Given the description of an element on the screen output the (x, y) to click on. 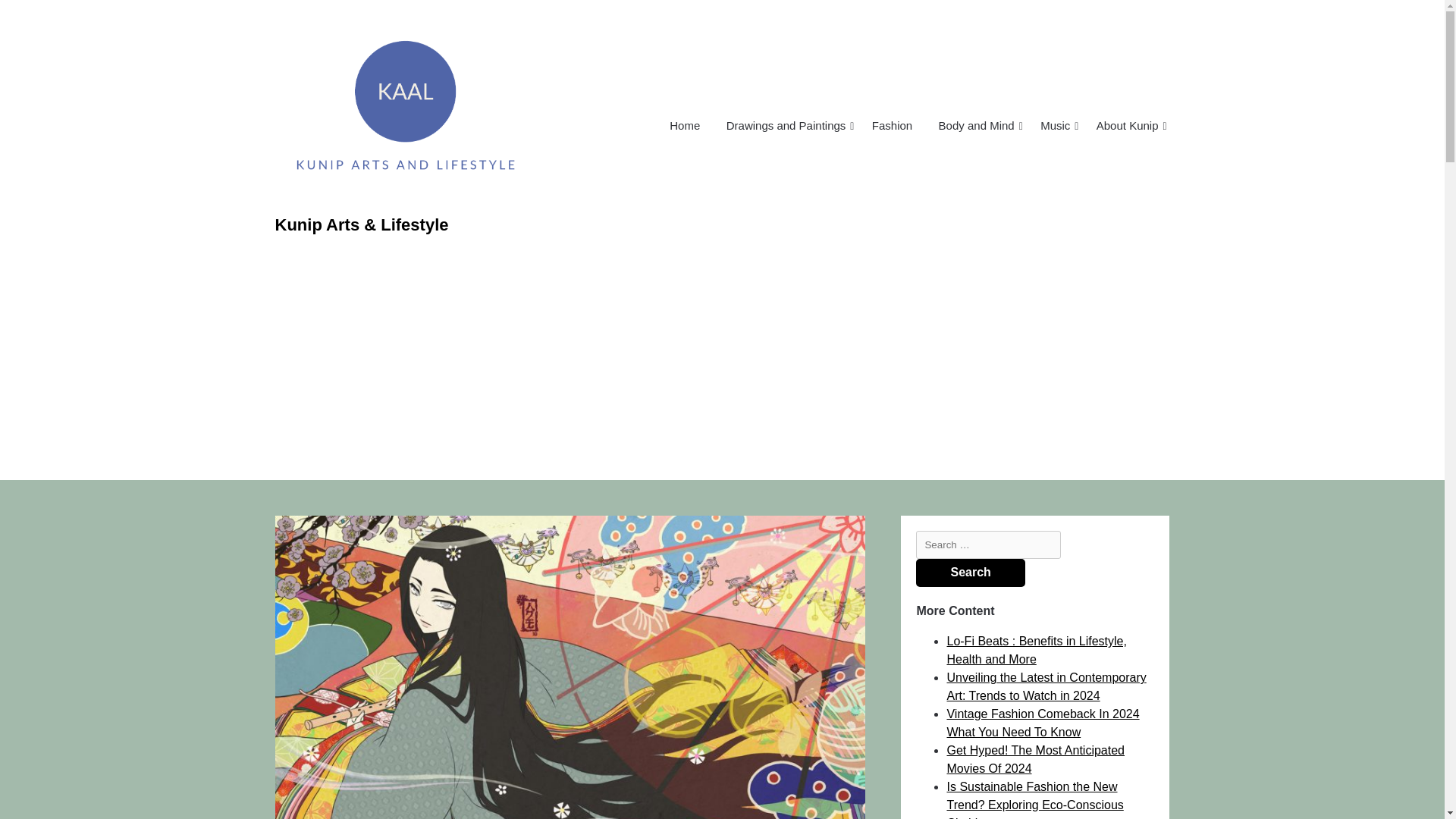
Search (970, 573)
About Kunip (1127, 126)
Body and Mind (976, 126)
Vintage Fashion Comeback In 2024 What You Need To Know (1042, 722)
Search (970, 573)
Drawings and Paintings (785, 126)
Search (970, 573)
Lo-Fi Beats : Benefits in Lifestyle, Health and More (1035, 649)
Fashion (891, 126)
